Given the description of an element on the screen output the (x, y) to click on. 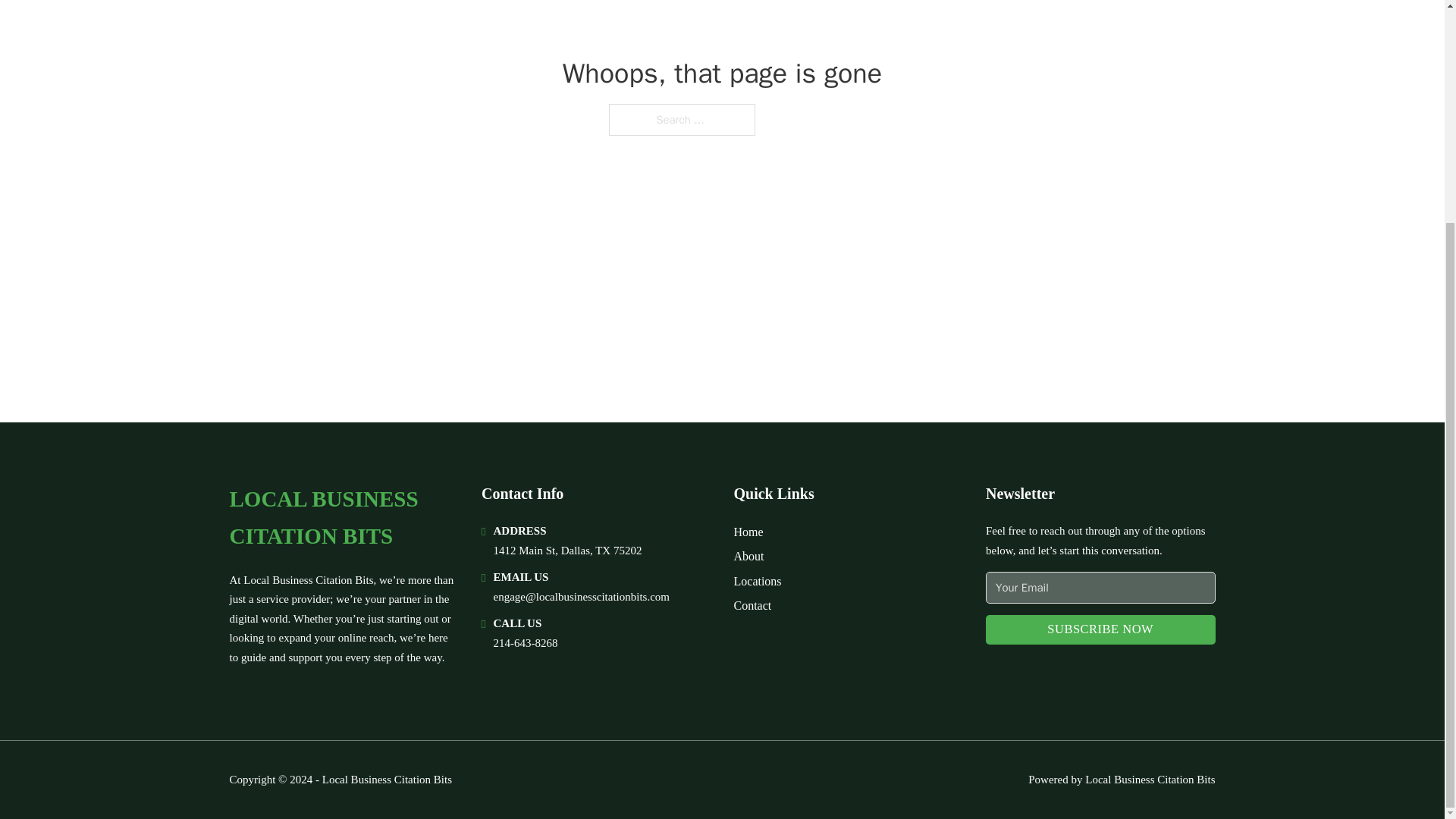
SUBSCRIBE NOW (1100, 629)
About (748, 556)
Locations (757, 580)
Contact (752, 605)
LOCAL BUSINESS CITATION BITS (343, 518)
214-643-8268 (525, 643)
Home (747, 531)
